Given the description of an element on the screen output the (x, y) to click on. 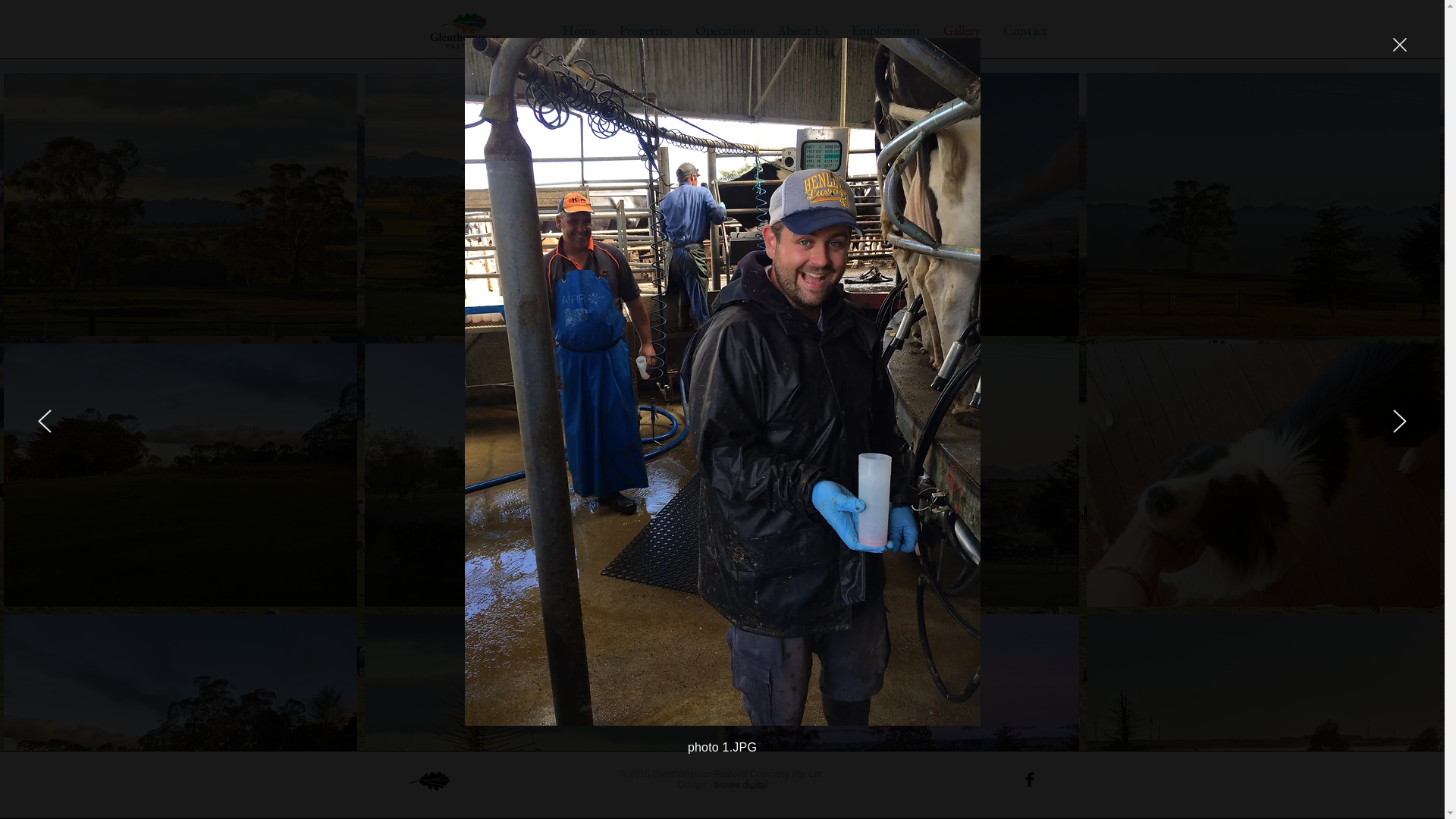
About Us Element type: text (802, 29)
Home Element type: text (578, 29)
Properties Element type: text (646, 29)
Operations Element type: text (724, 29)
boxee.digital Element type: text (740, 784)
Home Element type: hover (465, 30)
Employment Element type: text (885, 29)
Back to Top Element type: hover (427, 780)
Contact Element type: text (1024, 29)
Gallery Element type: text (961, 29)
